Given the description of an element on the screen output the (x, y) to click on. 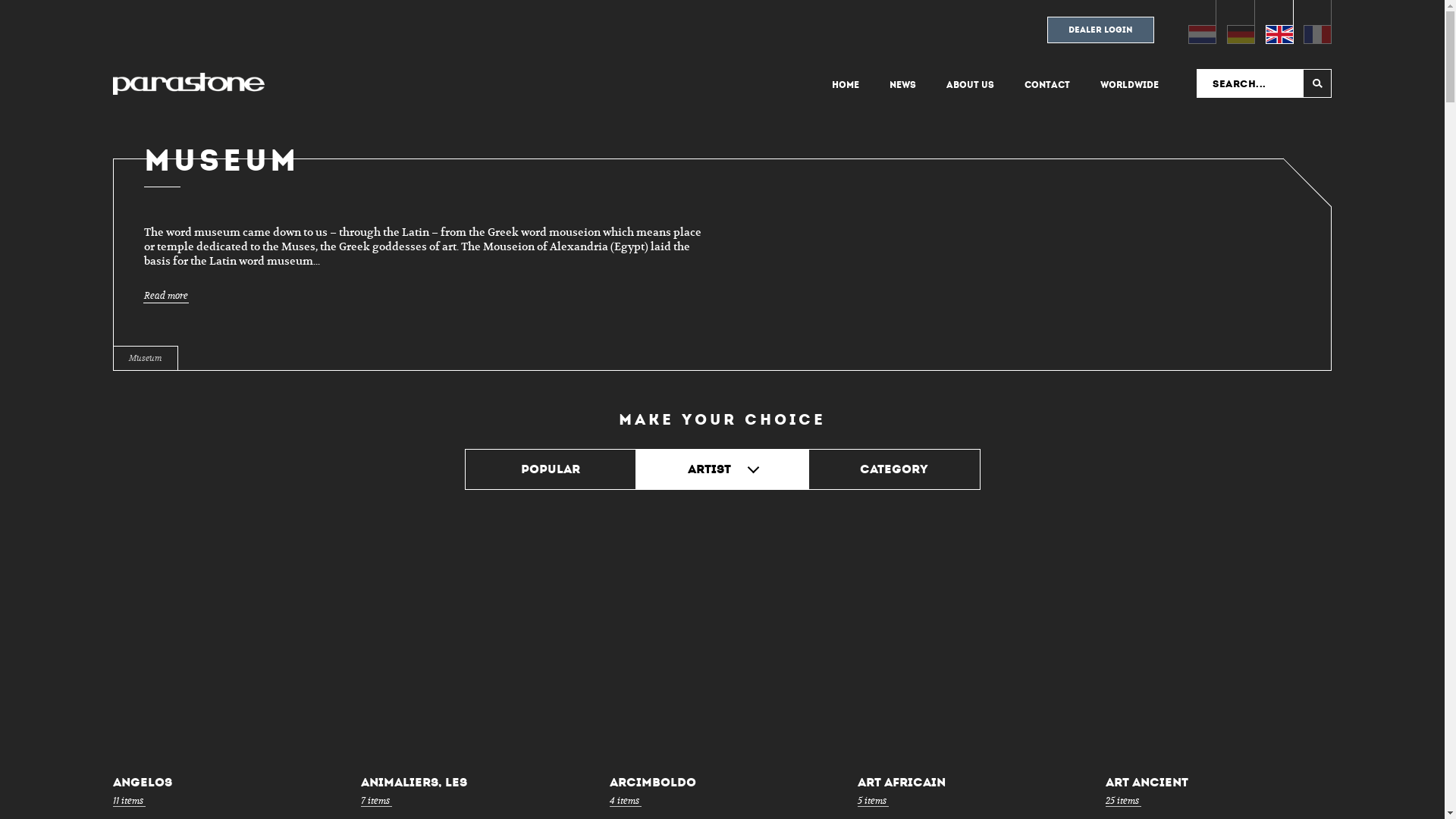
News Element type: text (902, 84)
Read more Element type: text (165, 295)
Popular Element type: text (550, 469)
Dealer login Element type: text (1100, 34)
Contact Element type: text (1047, 84)
Worldwide Element type: text (1129, 84)
About us Element type: text (970, 84)
HOME Element type: text (845, 84)
Category Element type: text (894, 469)
Museum Element type: text (145, 357)
